Given the description of an element on the screen output the (x, y) to click on. 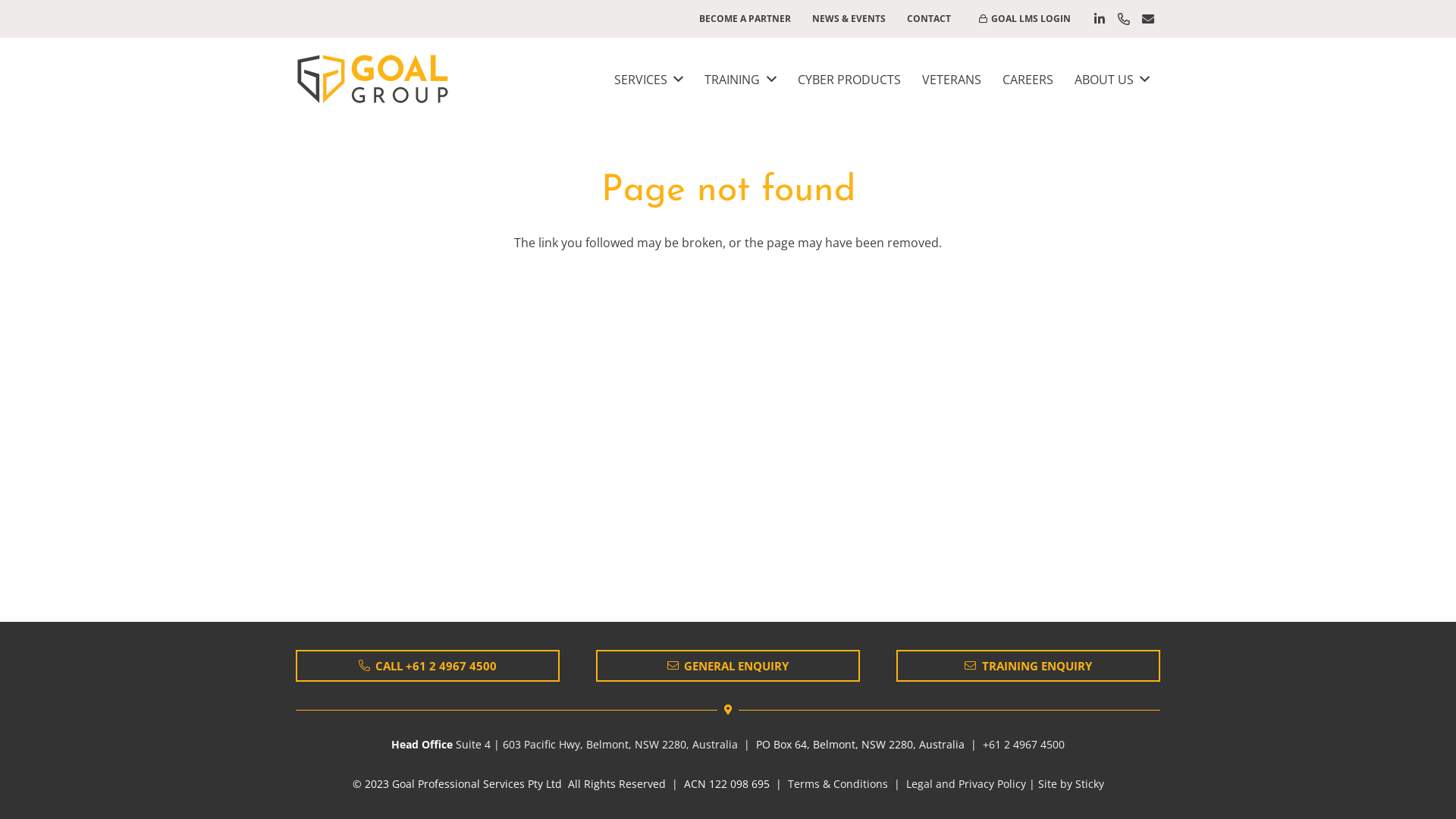
TRAINING ENQUIRY Element type: text (1028, 665)
Legal and Privacy Policy Element type: text (965, 783)
GOAL LMS LOGIN Element type: text (1024, 18)
ABOUT US Element type: text (1111, 79)
Site by Sticky Element type: text (1070, 783)
VETERANS Element type: text (951, 79)
Email Element type: hover (1147, 18)
BECOME A PARTNER Element type: text (744, 18)
GENERAL ENQUIRY Element type: text (727, 665)
NEWS & EVENTS Element type: text (848, 18)
CYBER PRODUCTS Element type: text (849, 79)
+61 2 4967 4500 Element type: text (1023, 744)
CAREERS Element type: text (1027, 79)
LinkedIn Element type: hover (1099, 18)
Terms & Conditions Element type: text (837, 783)
SERVICES Element type: text (648, 79)
TRAINING Element type: text (739, 79)
CALL +61 2 4967 4500 Element type: text (427, 665)
Phone Element type: hover (1123, 18)
CONTACT Element type: text (928, 18)
Suite 4 | 603 Pacific Hwy, Belmont, NSW 2280, Australia Element type: text (596, 744)
